Given the description of an element on the screen output the (x, y) to click on. 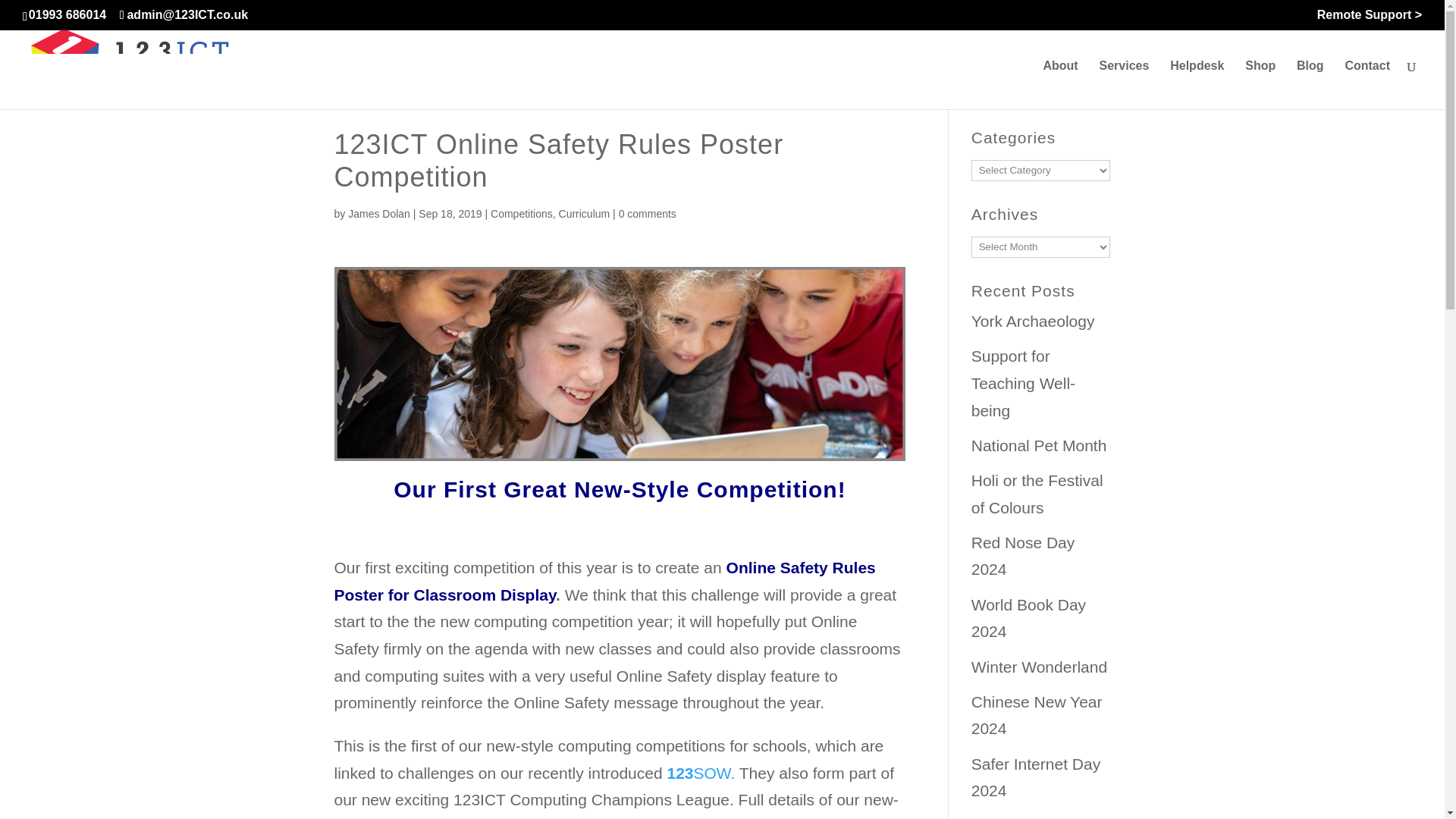
123SOW. (702, 773)
Chinese New Year 2024 (1036, 714)
Red Nose Day 2024 (1023, 555)
Create Day 24 (1022, 817)
World Book Day 2024 (1028, 618)
Holi or the Festival of Colours (1037, 493)
Curriculum (584, 214)
Support for Teaching Well-being (1023, 382)
Services (1124, 84)
Winter Wonderland (1038, 666)
